Given the description of an element on the screen output the (x, y) to click on. 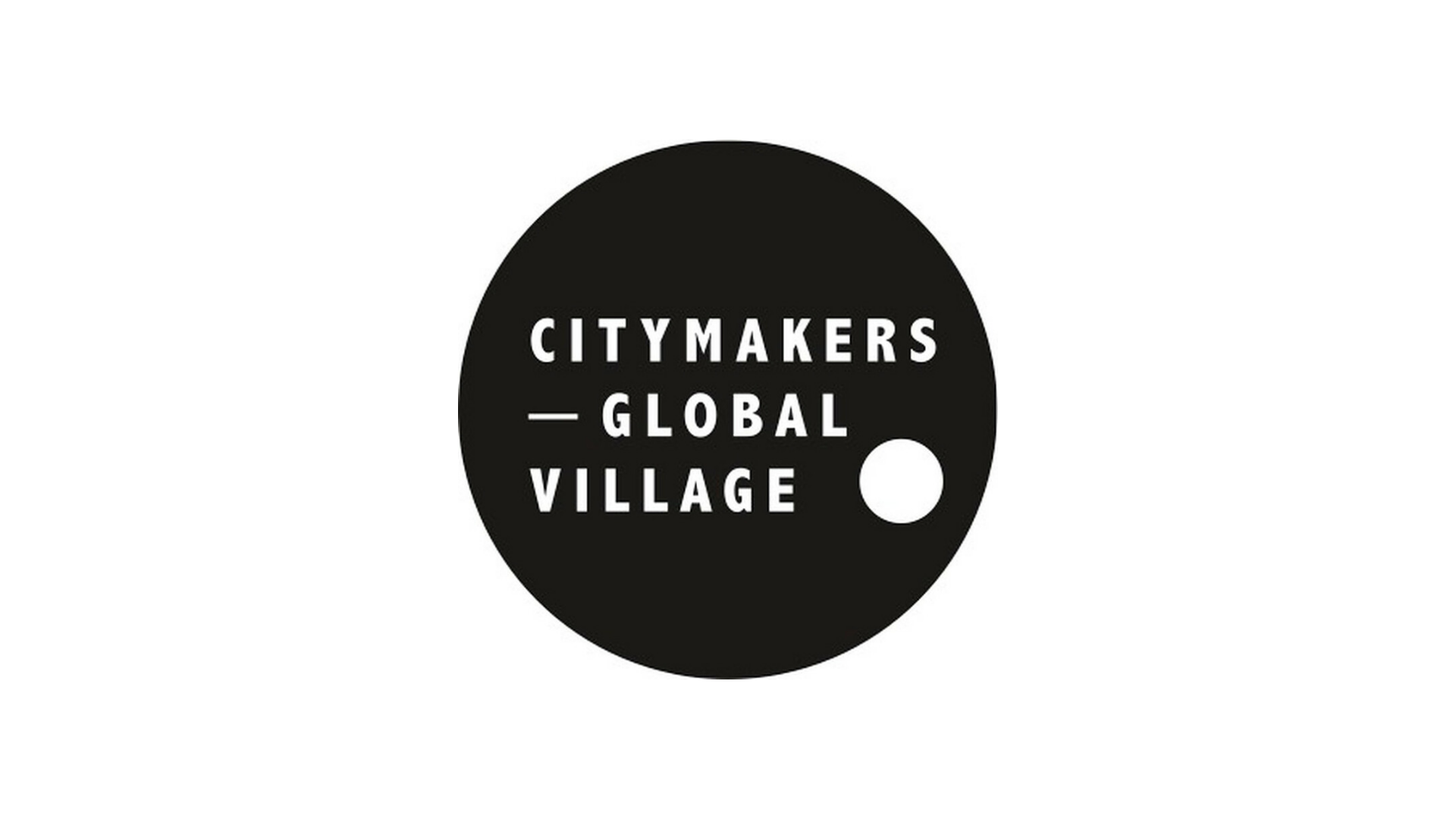
People (259, 32)
Events (55, 126)
About (1150, 32)
Back (31, 32)
Ruhr (138, 96)
Social Entrepreneurship (536, 65)
Knowledge (150, 32)
Partners (1352, 32)
All (51, 32)
Scientists for city making (875, 96)
Activities (362, 32)
Institutional Collaborators (1338, 96)
Shanghai (301, 96)
Future of Education (1027, 65)
Podcasts (407, 32)
